Given the description of an element on the screen output the (x, y) to click on. 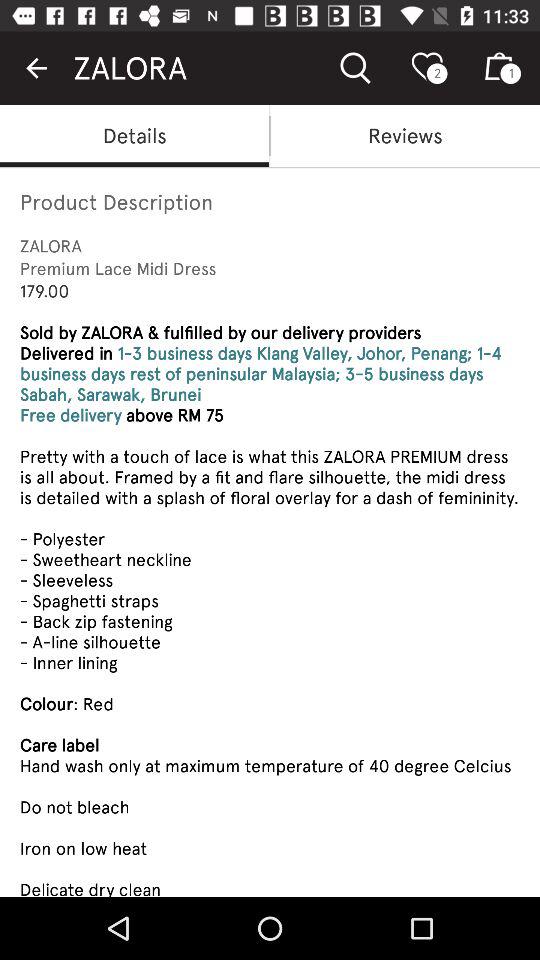
turn off item to the left of the zalora (36, 68)
